Given the description of an element on the screen output the (x, y) to click on. 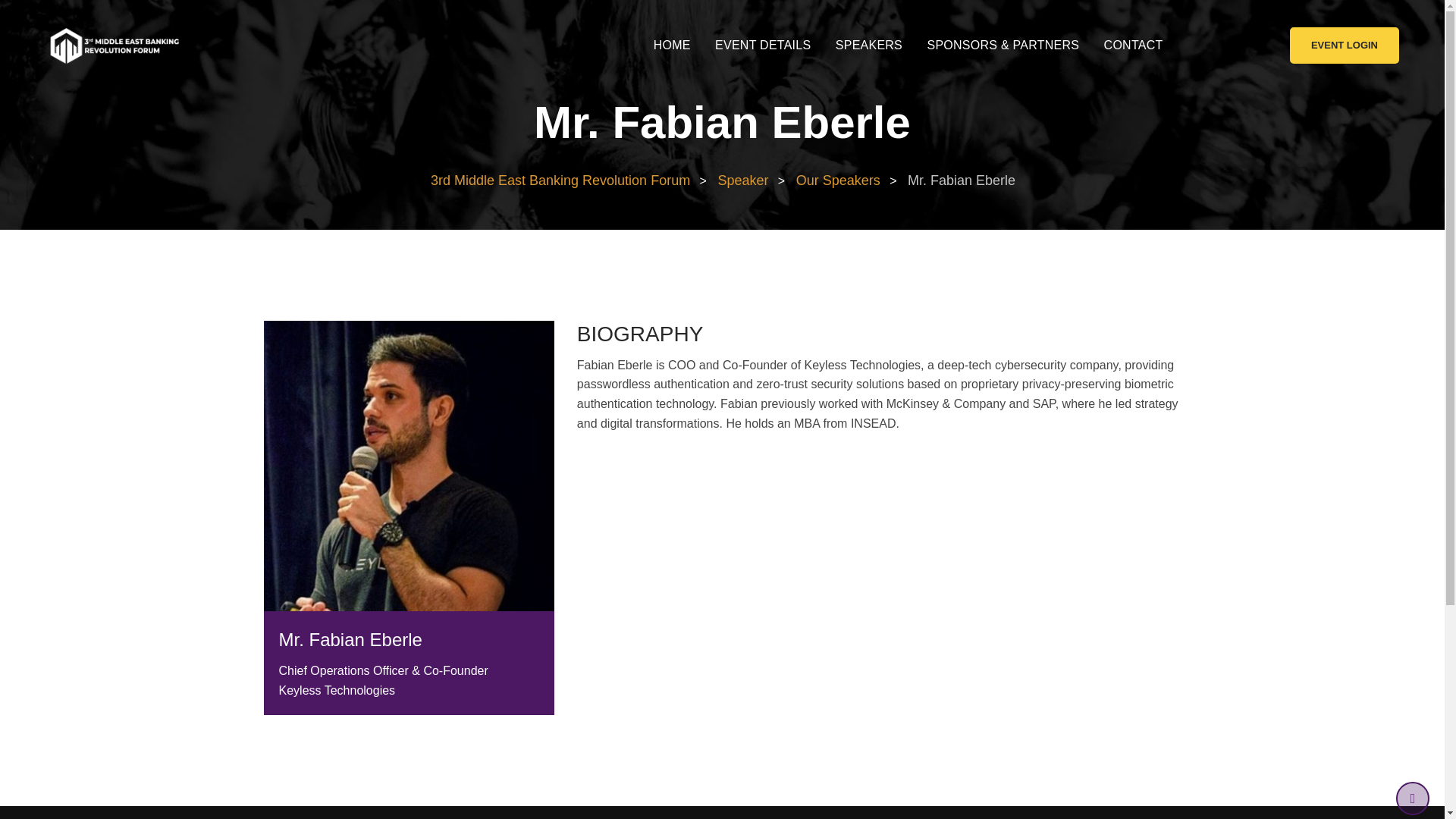
Our Speakers (837, 180)
Go to Speaker. (742, 180)
SPEAKERS (868, 45)
EVENT LOGIN (1344, 45)
CONTACT (1133, 45)
Event Login (1344, 45)
Speaker (742, 180)
Go to 3rd Middle East Banking Revolution Forum. (559, 180)
Go to the Our Speakers Speaker Category archives. (837, 180)
EVENT DETAILS (762, 45)
3rd Middle East Banking Revolution Forum (559, 180)
HOME (672, 45)
